Given the description of an element on the screen output the (x, y) to click on. 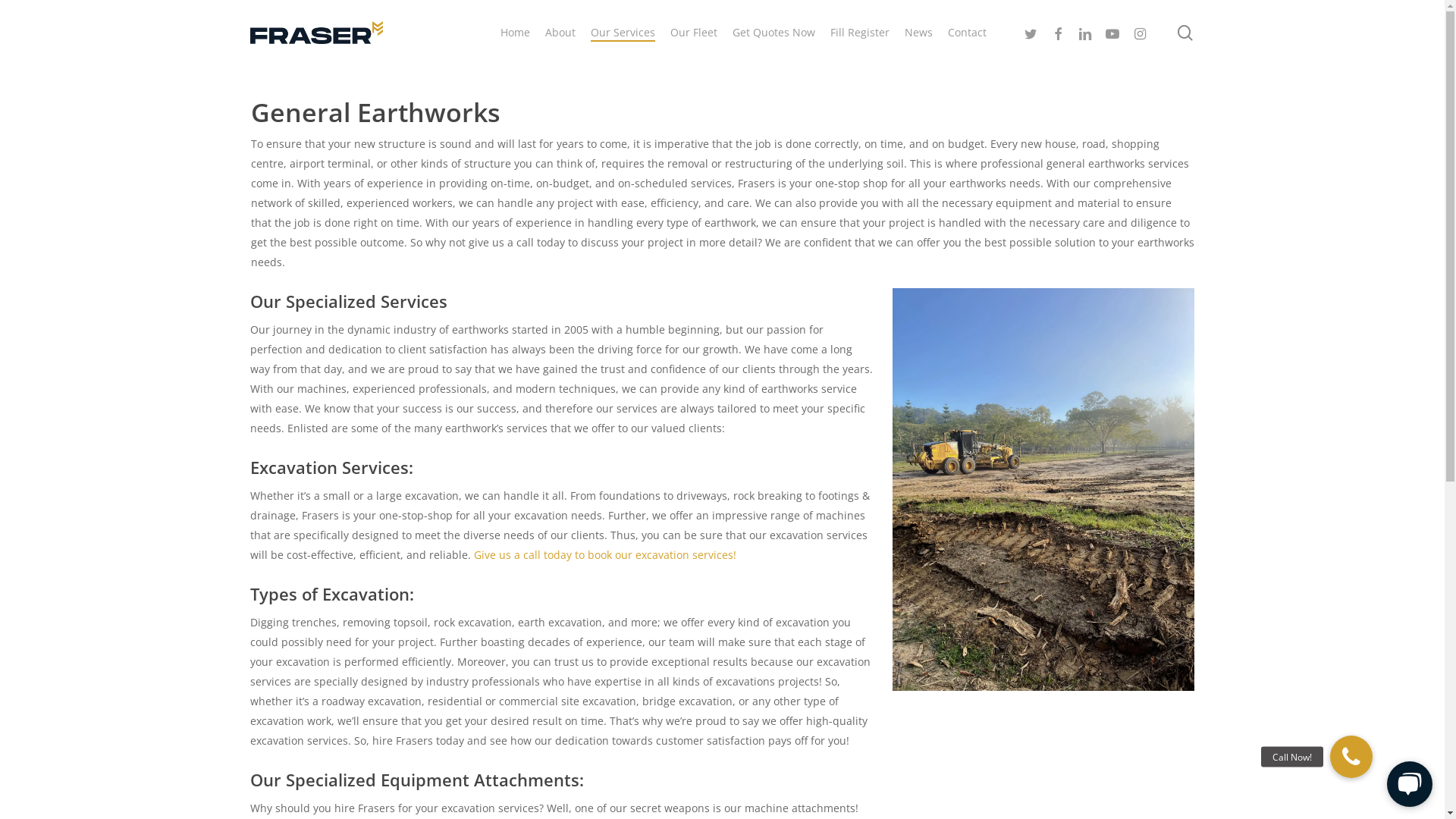
Our Fleet Element type: text (693, 32)
Call Now! Element type: text (1351, 756)
youtube Element type: text (1112, 31)
twitter Element type: text (1030, 31)
Our Services Element type: text (622, 32)
Get Quotes Now Element type: text (773, 32)
Give us a call today to book our excavation services! Element type: text (604, 554)
instagram Element type: text (1139, 31)
search Element type: text (1185, 32)
facebook Element type: text (1057, 31)
About Element type: text (560, 32)
News Element type: text (918, 32)
linkedin Element type: text (1084, 31)
Home Element type: text (515, 32)
Contact Element type: text (966, 32)
Fill Register Element type: text (859, 32)
